Given the description of an element on the screen output the (x, y) to click on. 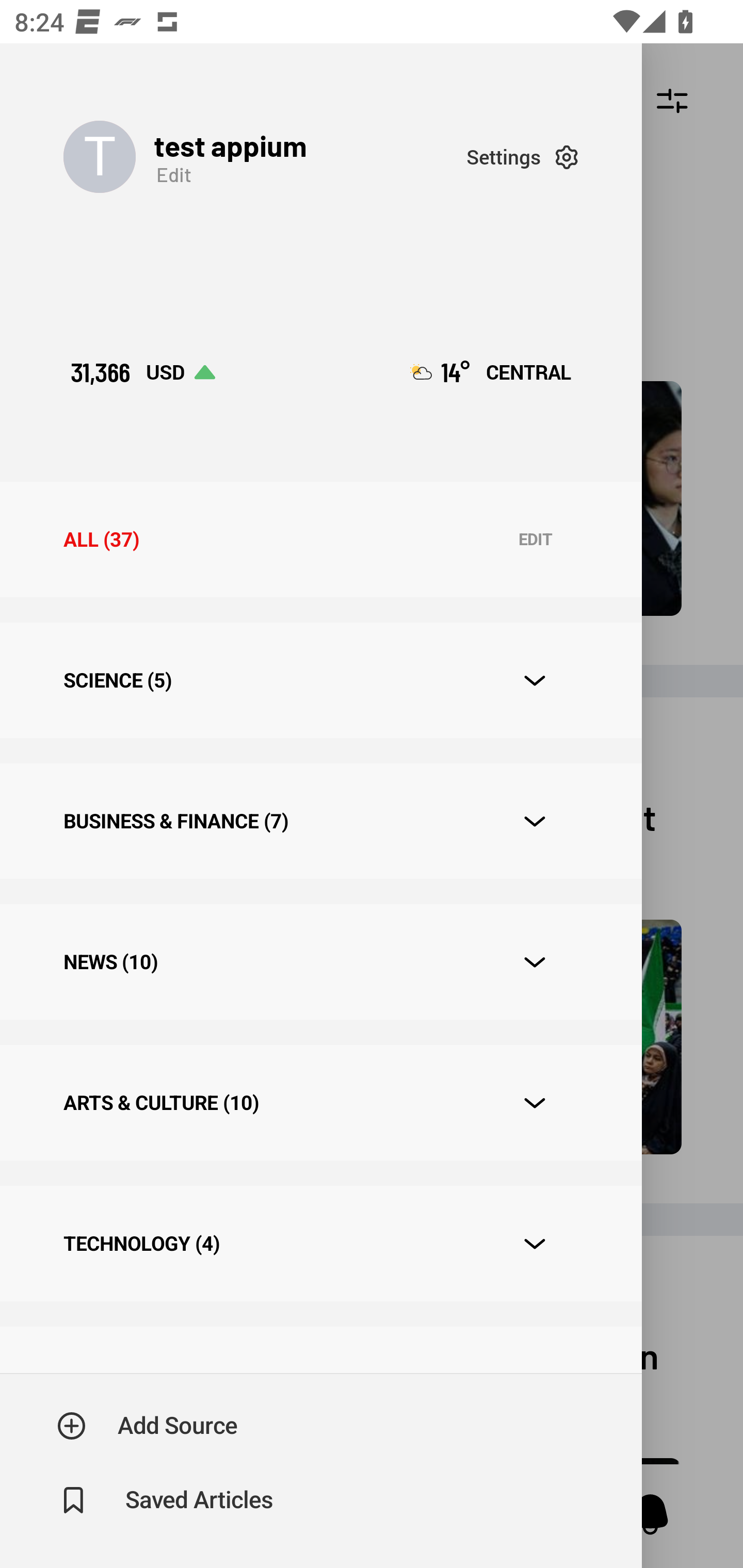
T test appium Edit (264, 156)
Settings Select News Style (522, 156)
31,366 USD Current State of the Currency (142, 372)
Current State of the Weather 14° CENTRAL (490, 372)
ALL  (37) EDIT (320, 539)
EDIT (534, 540)
SCIENCE  (5) Expand Button (320, 680)
Expand Button (534, 681)
BUSINESS & FINANCE  (7) Expand Button (320, 821)
Expand Button (534, 821)
NEWS  (10) Expand Button (320, 961)
Expand Button (534, 961)
ARTS & CULTURE  (10) Expand Button (320, 1102)
Expand Button (534, 1102)
TECHNOLOGY  (4) Expand Button (320, 1243)
Expand Button (534, 1244)
Open Content Store Add Source (147, 1425)
Open Saved News  Saved Articles (166, 1500)
